Given the description of an element on the screen output the (x, y) to click on. 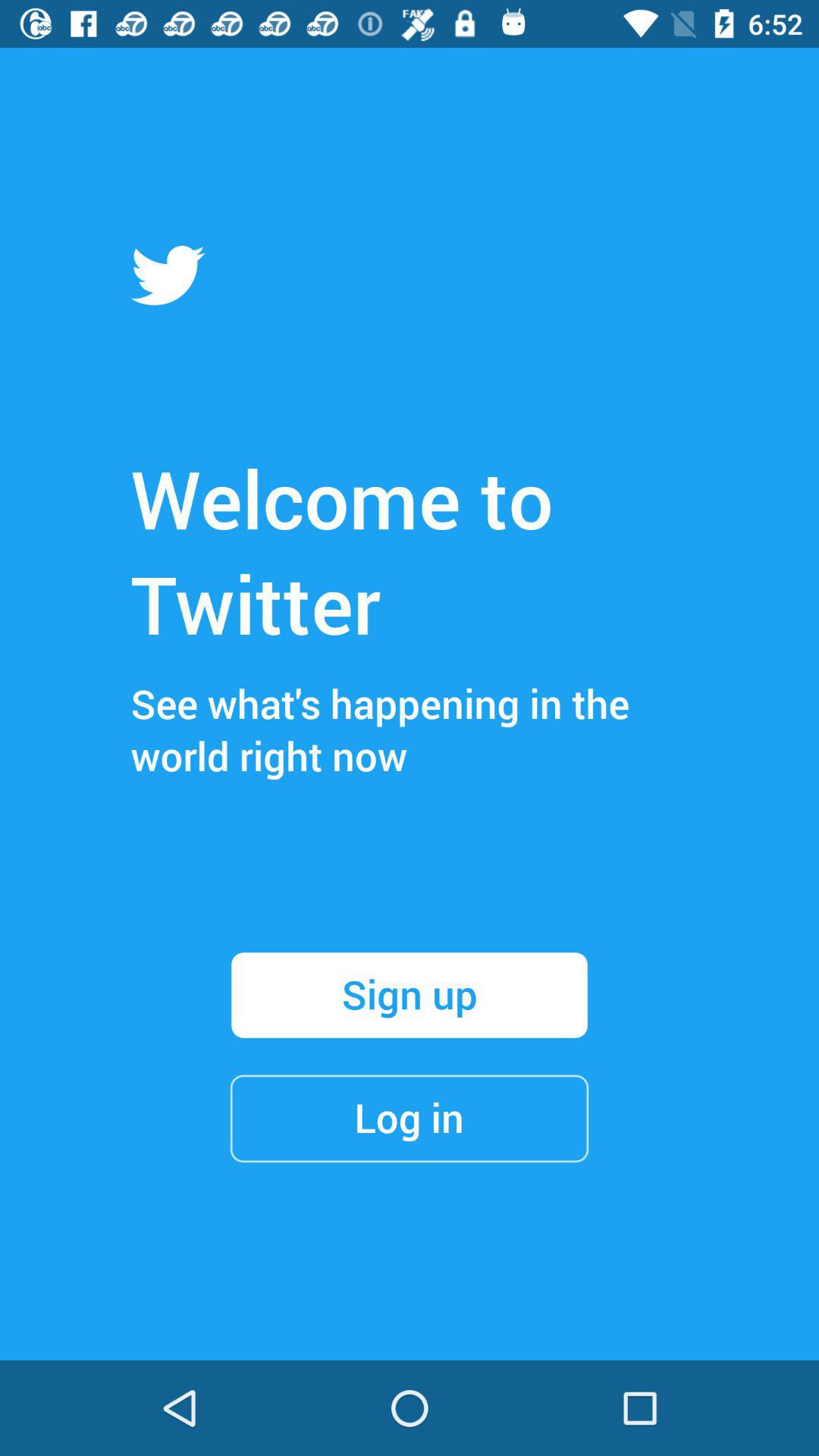
turn on the sign up icon (409, 995)
